Given the description of an element on the screen output the (x, y) to click on. 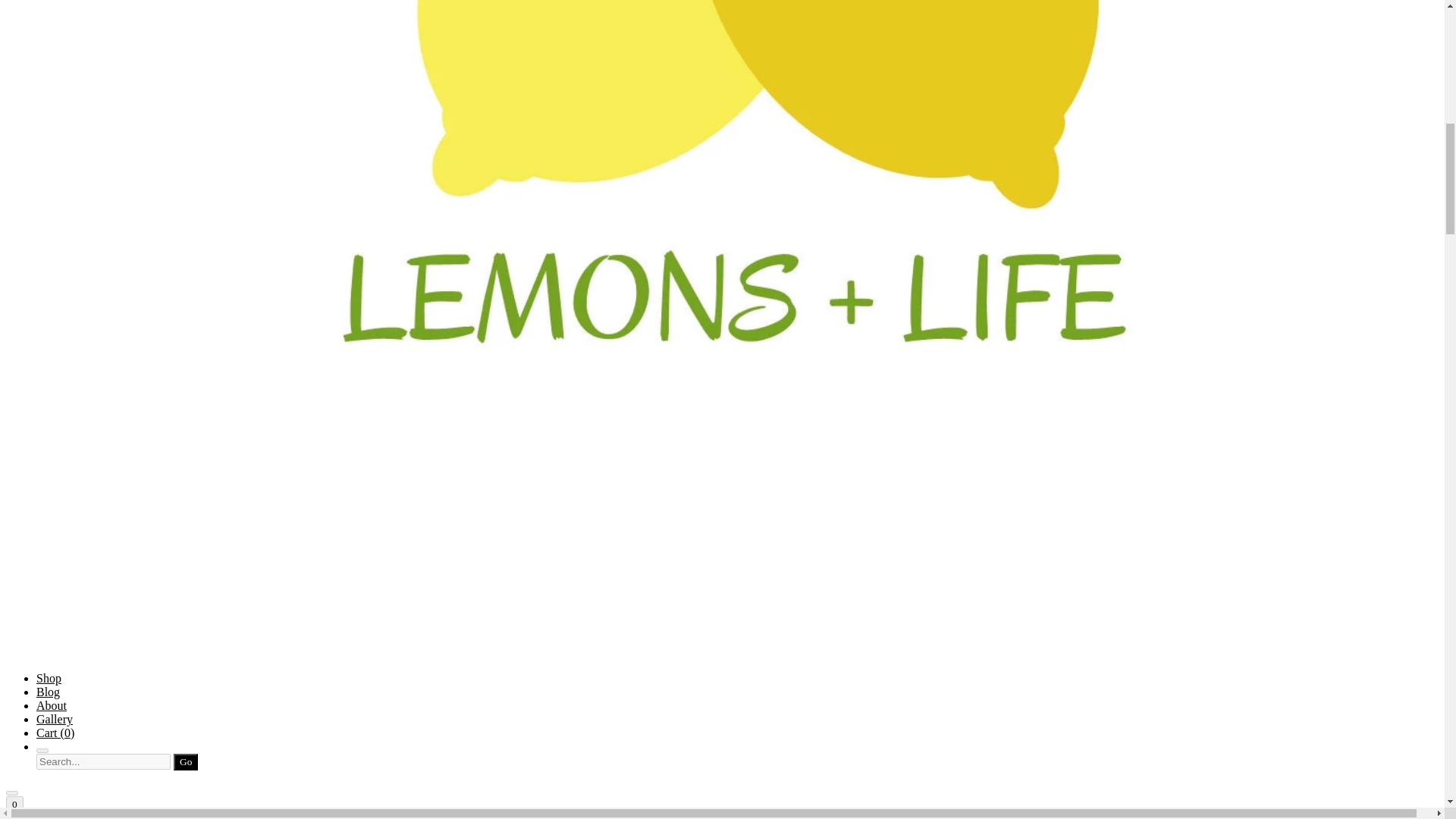
Blog (47, 691)
Shop (48, 677)
0 (14, 804)
Go (185, 761)
Gallery (54, 718)
Go (185, 761)
About (51, 705)
